Given the description of an element on the screen output the (x, y) to click on. 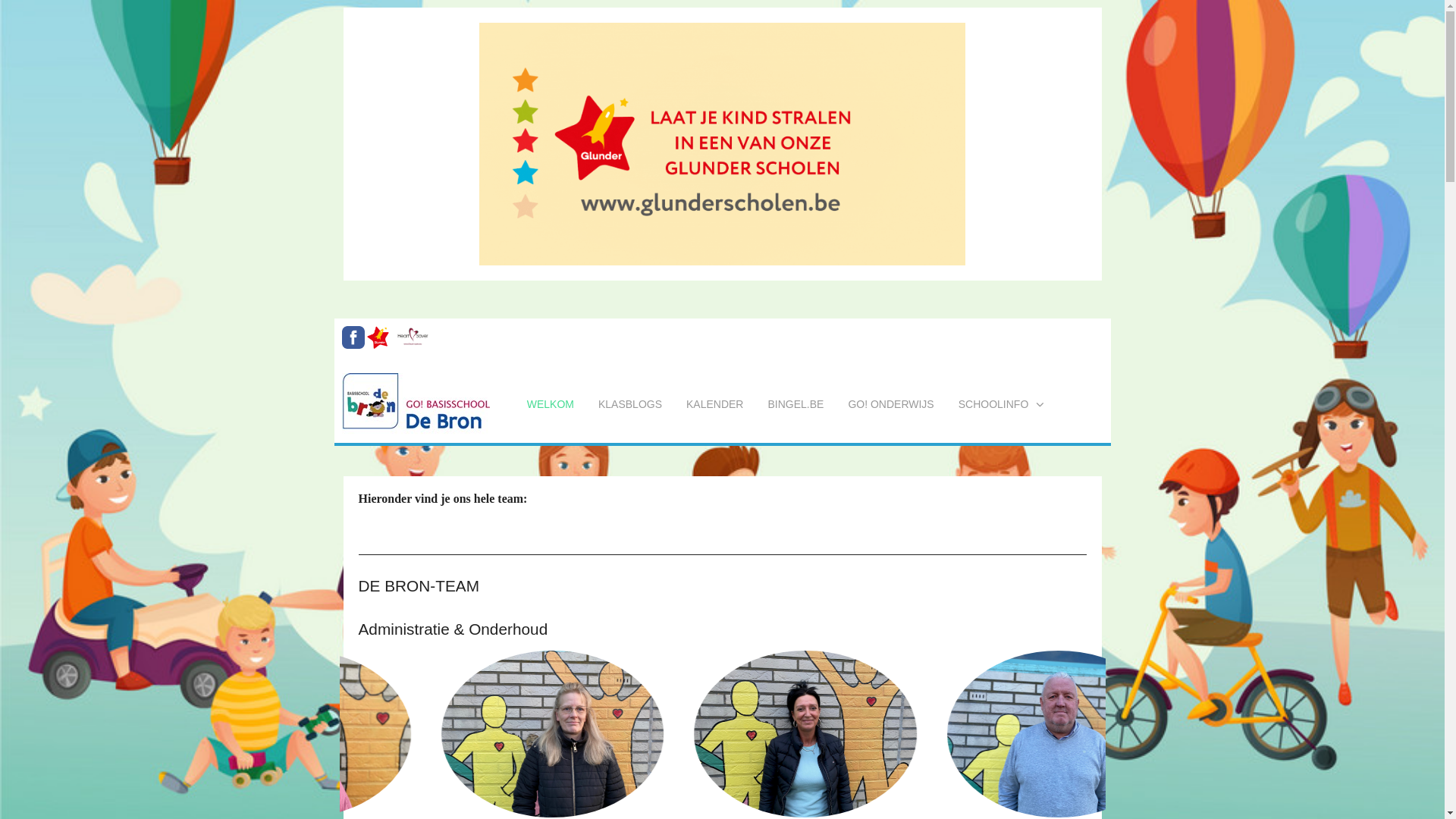
WELKOM Element type: text (550, 404)
BINGEL.BE Element type: text (795, 404)
KLASBLOGS Element type: text (630, 404)
GO! ONDERWIJS Element type: text (890, 404)
SCHOOLINFO Element type: text (1003, 404)
KALENDER Element type: text (714, 404)
Onderhoud Element type: hover (722, 733)
Onderhoud Element type: hover (974, 733)
Onderhoud Element type: hover (468, 733)
